Given the description of an element on the screen output the (x, y) to click on. 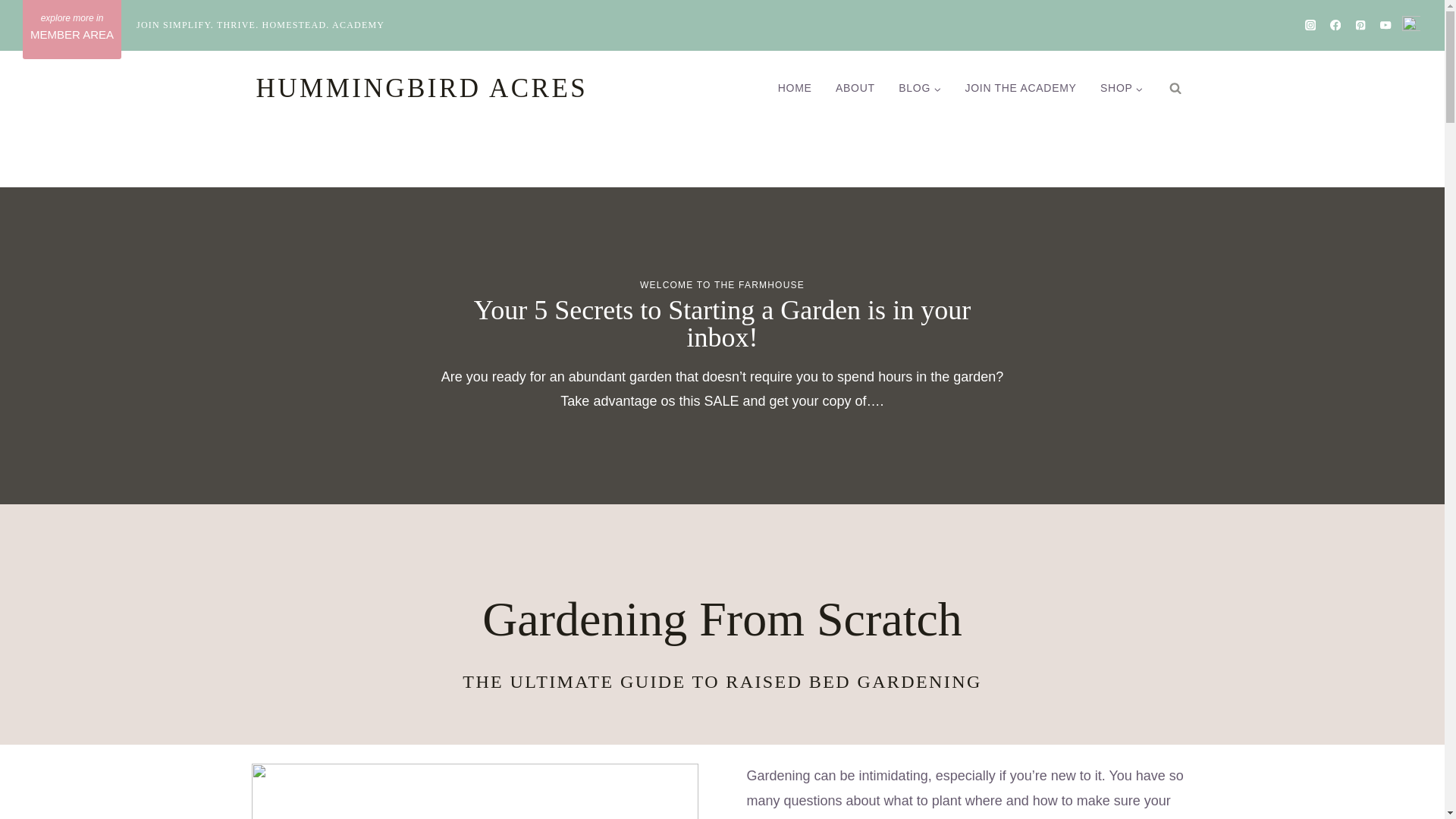
HOME (794, 87)
JOIN THE ACADEMY (1021, 87)
BLOG (919, 87)
ABOUT (855, 87)
MEMBER AREA (71, 29)
HUMMINGBIRD ACRES (422, 88)
SHOP (1120, 87)
JOIN SIMPLIFY. THRIVE. HOMESTEAD. ACADEMY (260, 24)
